Given the description of an element on the screen output the (x, y) to click on. 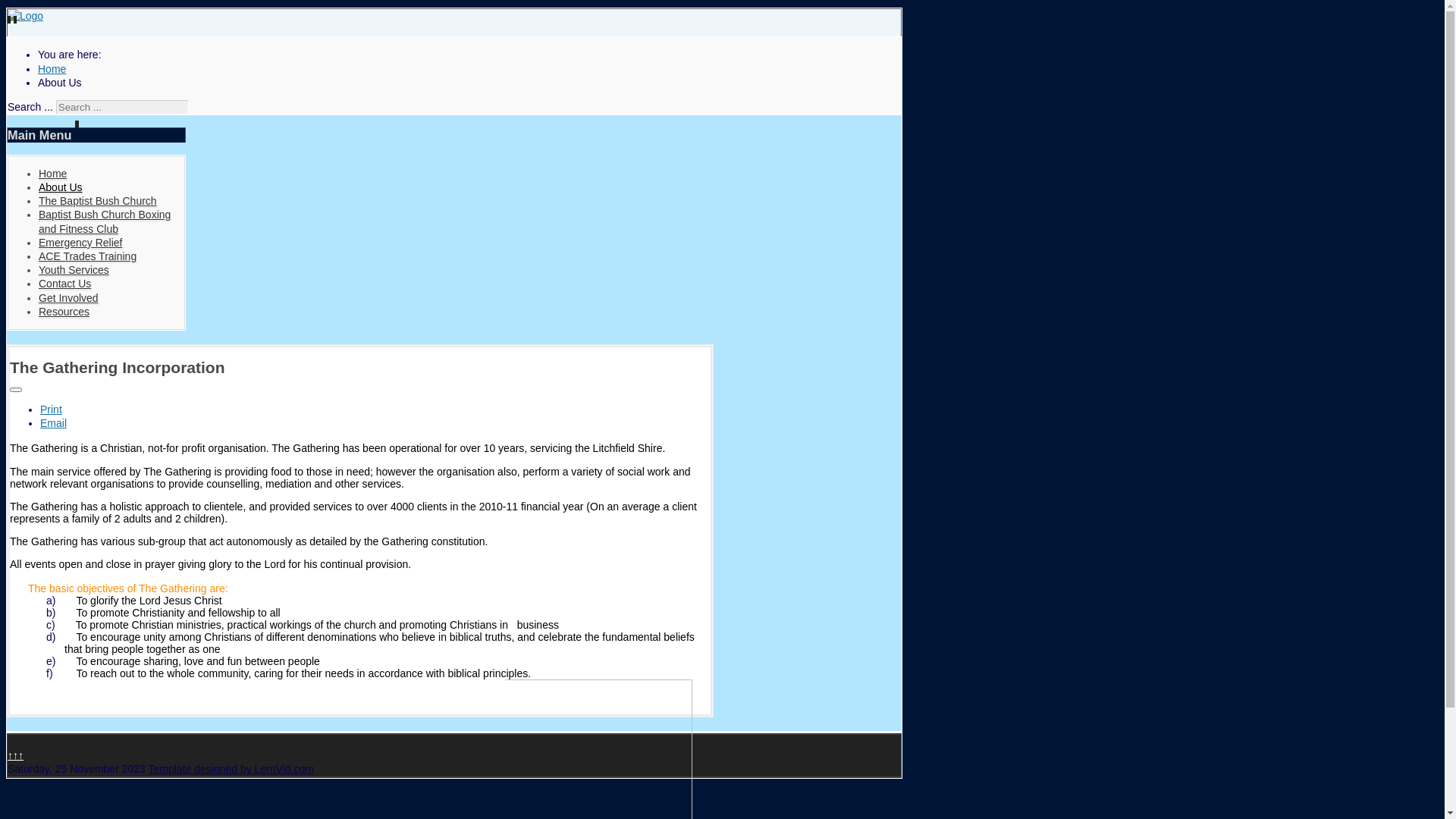
Email Element type: text (53, 423)
Emergency Relief Element type: text (80, 242)
Print Element type: text (51, 409)
ACE Trades Training Element type: text (87, 256)
Home Element type: text (51, 68)
Home Element type: text (52, 173)
The Baptist Bush Church Element type: text (97, 200)
Resources Element type: text (63, 311)
Get Involved Element type: text (68, 297)
Baptist Bush Church Boxing and Fitness Club Element type: text (104, 221)
About Us Element type: text (60, 187)
Template designed by LernVid.com Element type: text (230, 768)
Youth Services Element type: text (73, 269)
Contact Us Element type: text (64, 283)
